Given the description of an element on the screen output the (x, y) to click on. 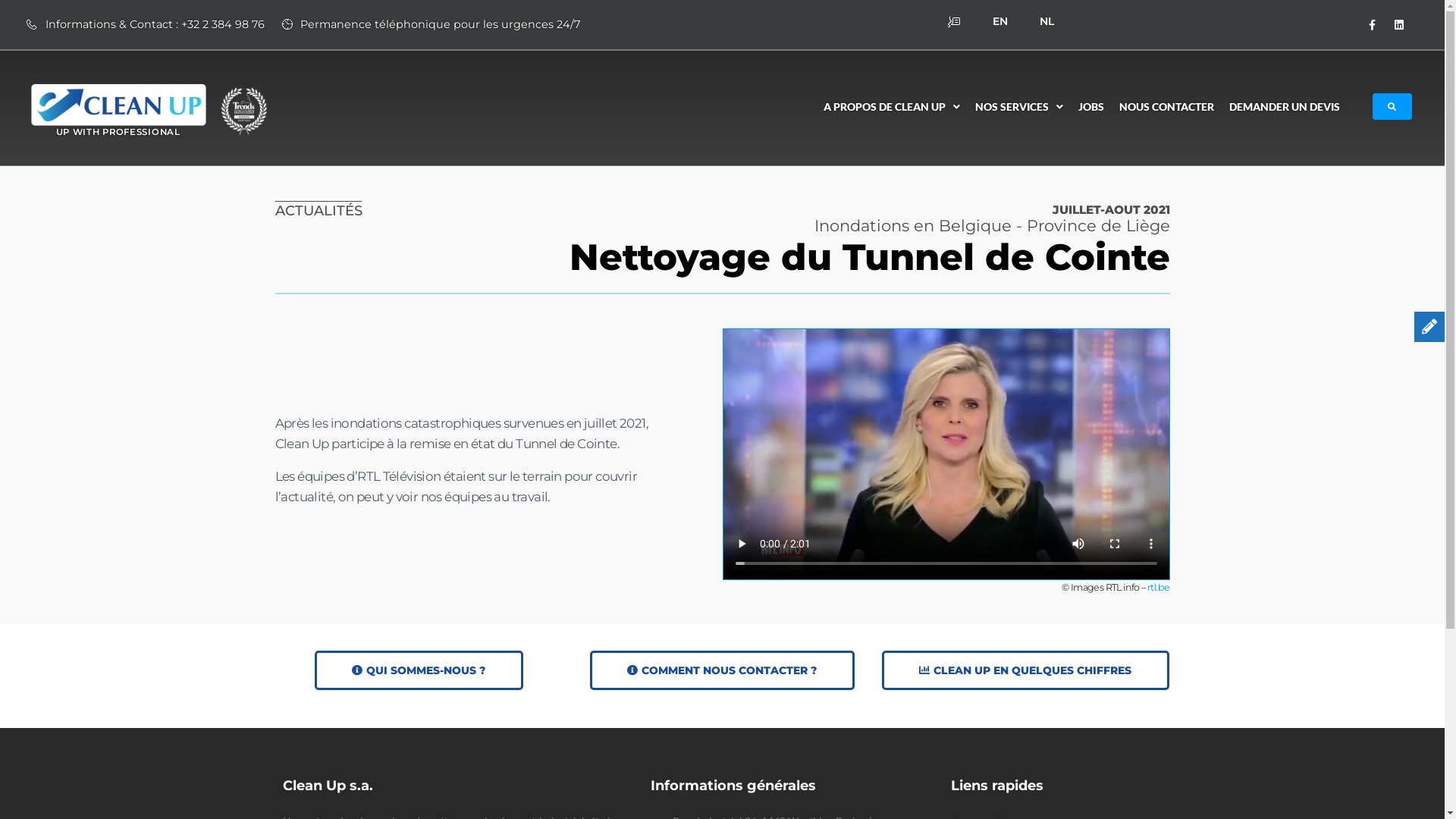
NOUS CONTACTER Element type: text (1166, 106)
NL Element type: text (1046, 21)
COMMENT NOUS CONTACTER ? Element type: text (721, 670)
DEMANDER UN DEVIS Element type: text (1284, 106)
Informations & Contact : +32 2 384 98 76 Element type: text (145, 24)
JOBS Element type: text (1090, 106)
NOS SERVICES Element type: text (1018, 106)
EN Element type: text (999, 21)
A PROPOS DE CLEAN UP Element type: text (891, 106)
QUI SOMMES-NOUS ? Element type: text (418, 670)
rtl.be Element type: text (1158, 587)
CLEAN UP EN QUELQUES CHIFFRES Element type: text (1025, 670)
